Given the description of an element on the screen output the (x, y) to click on. 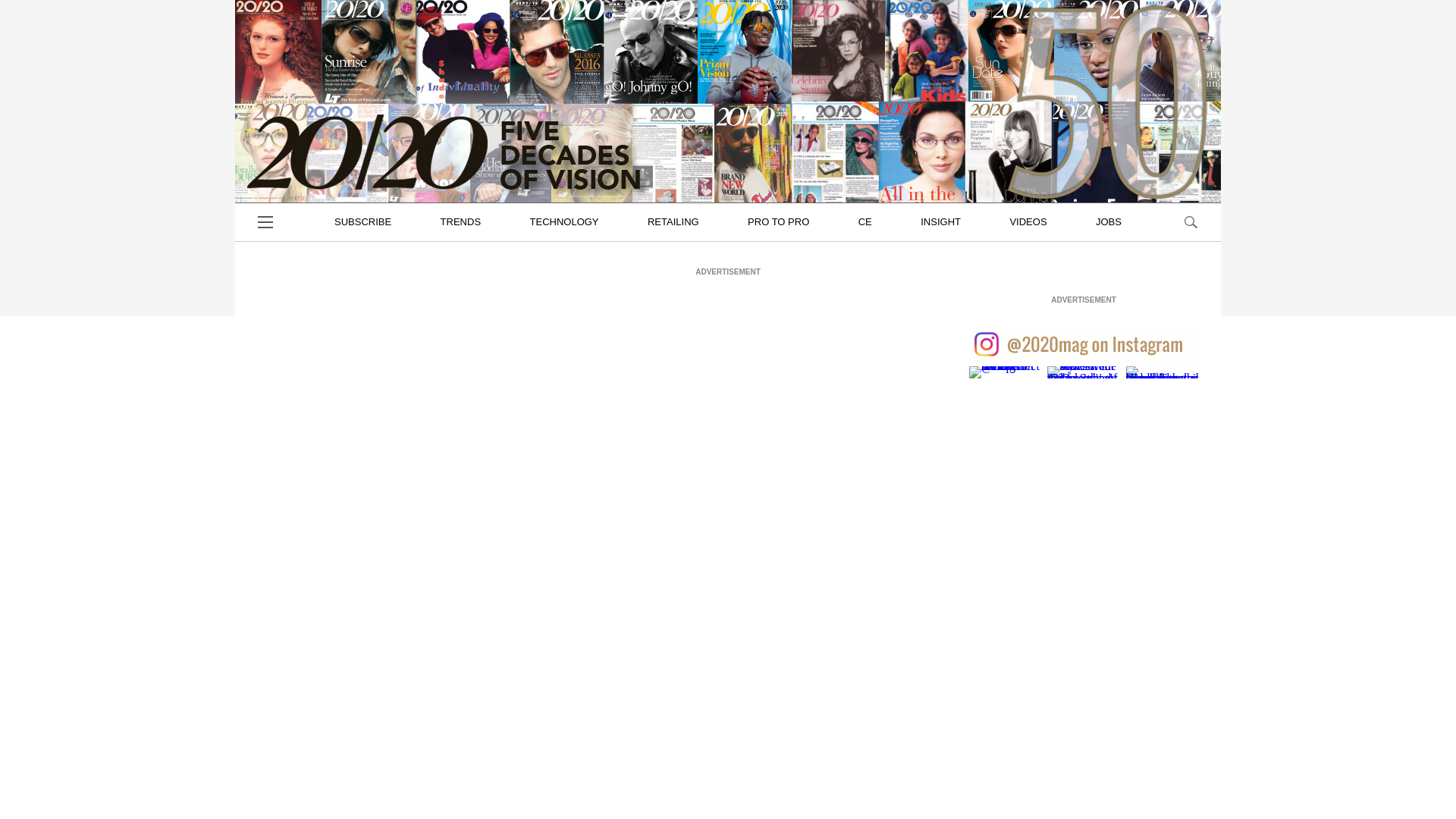
JOBS (1108, 221)
TECHNOLOGY (563, 221)
TRENDS (460, 221)
INSIGHT (941, 221)
RETAILING (673, 221)
VIDEOS (1027, 221)
CE (865, 221)
PRO TO PRO (778, 221)
SUBSCRIBE (362, 221)
